Given the description of an element on the screen output the (x, y) to click on. 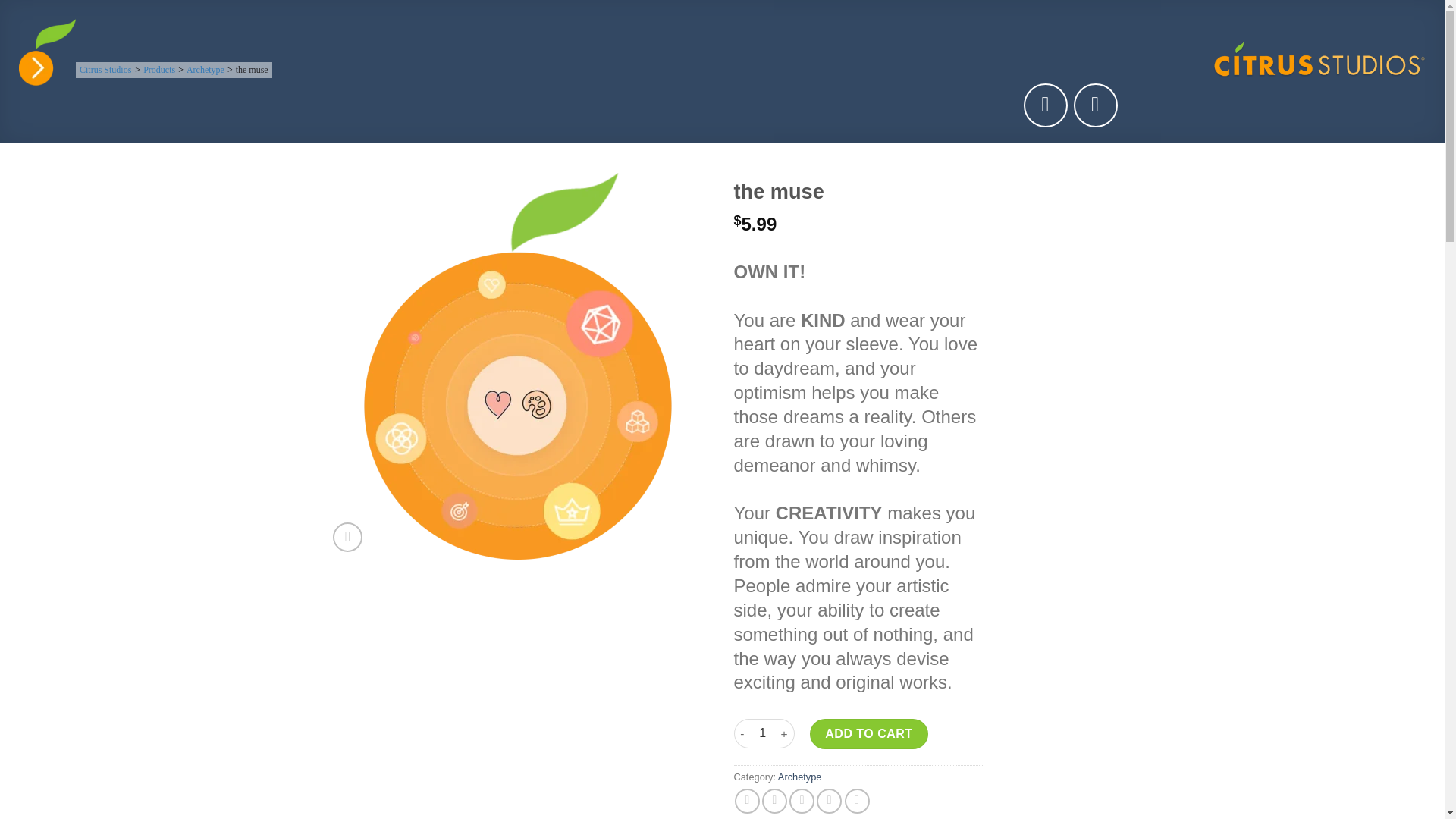
Archetype (205, 69)
Citrus Studios - We Design and Create with a Purpose (1318, 59)
Citrus Studios (105, 69)
Privacy Policy (148, 743)
Products (158, 69)
Zoom (347, 537)
Products (158, 69)
Archetype (205, 69)
the muse (251, 69)
Archetype (799, 776)
